Given the description of an element on the screen output the (x, y) to click on. 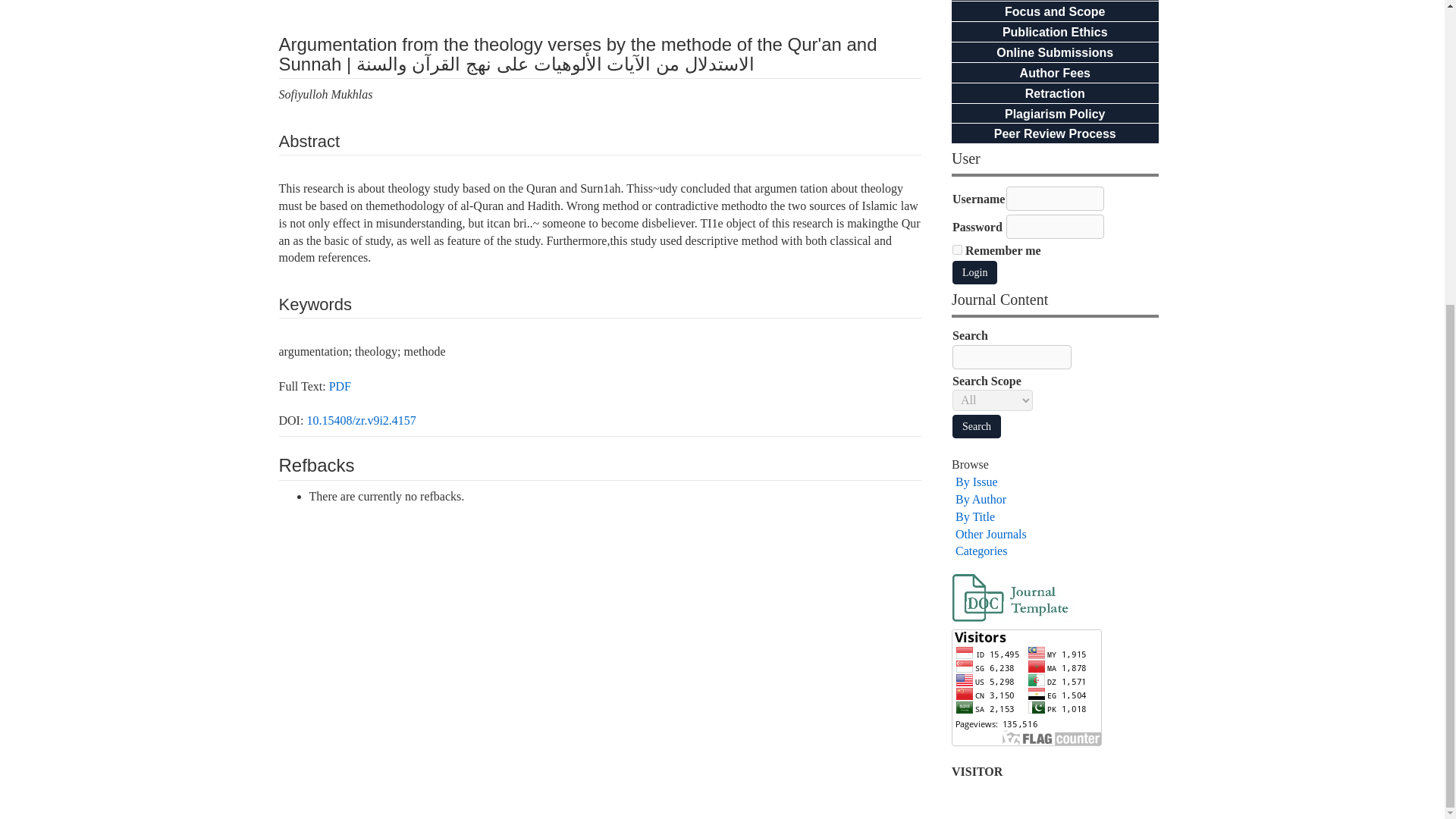
Login (974, 272)
Focus and Scope (1054, 11)
By Issue (976, 481)
PDF (339, 386)
Categories (981, 550)
Online Submissions (1054, 51)
Search (976, 426)
Peer Review Process (1055, 133)
Publication Ethics (1055, 31)
Other Journals (990, 533)
